Given the description of an element on the screen output the (x, y) to click on. 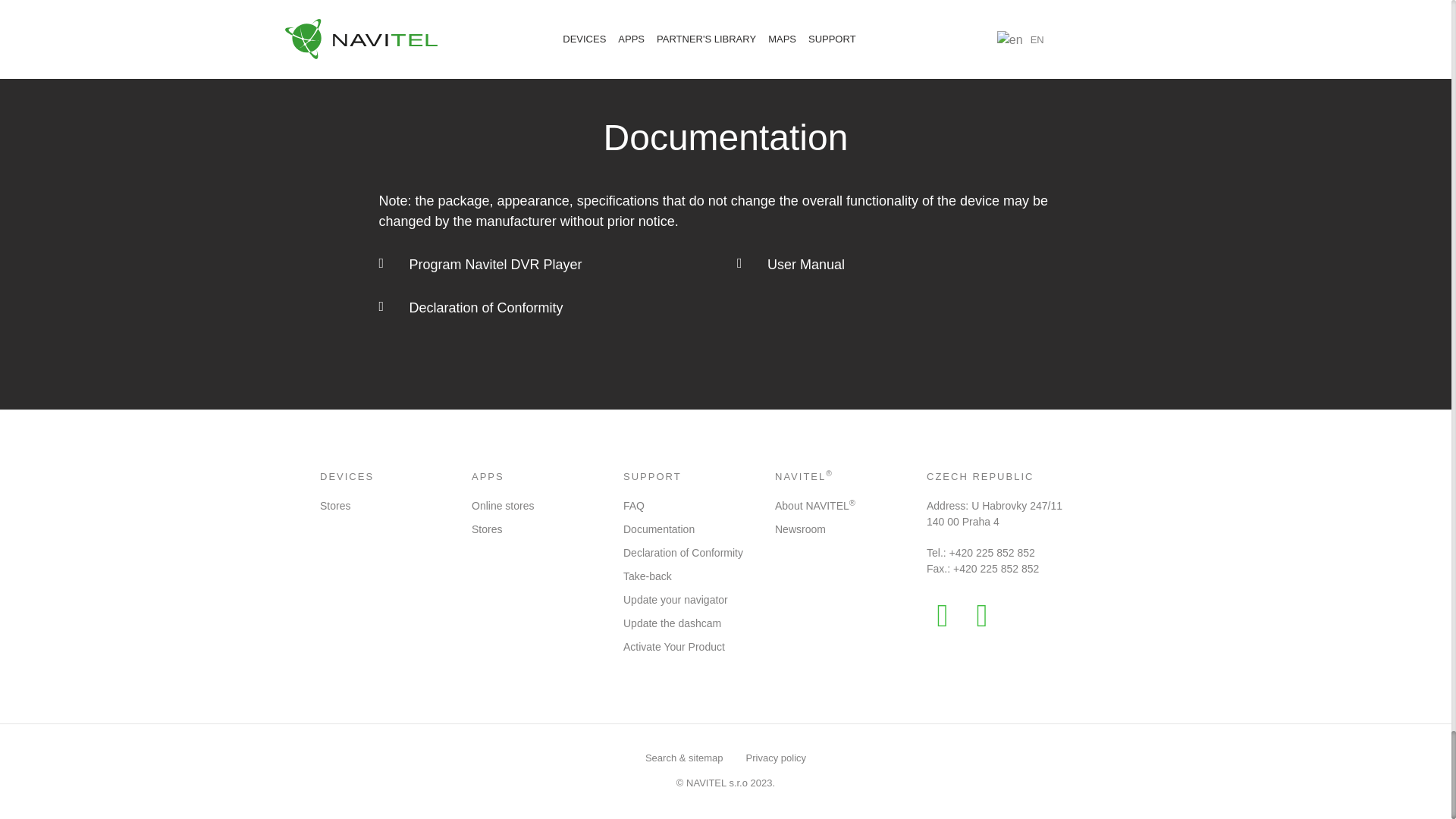
User Manual (903, 264)
DEVICES (347, 476)
Declaration of Conformity (545, 308)
APPS (487, 476)
Instagram (981, 615)
Stores (335, 505)
Program Navitel DVR Player (545, 264)
Facebook (942, 615)
